Given the description of an element on the screen output the (x, y) to click on. 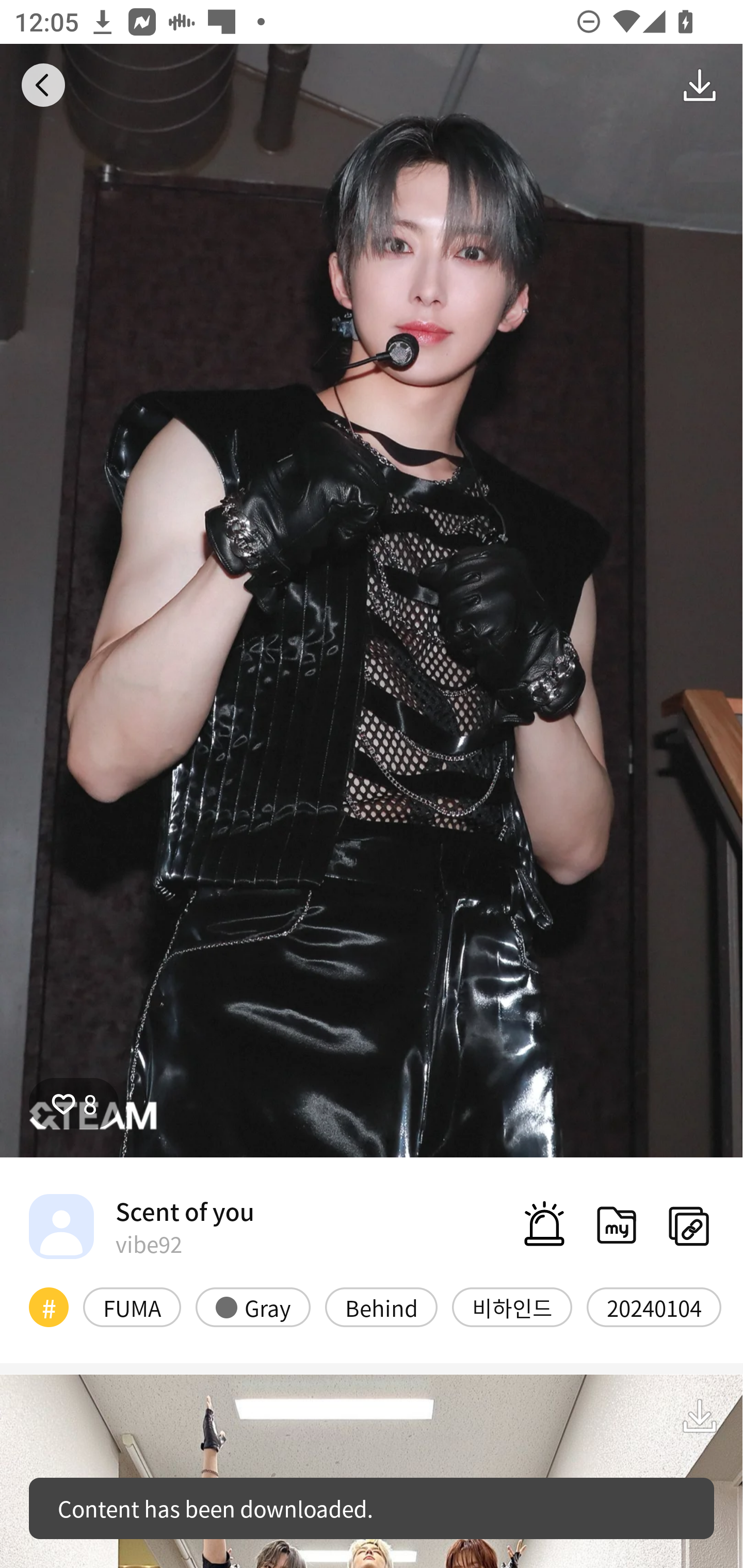
8 (73, 1102)
Scent of you vibe92 (141, 1226)
FUMA (132, 1306)
Gray (252, 1306)
Behind (381, 1306)
비하인드 (511, 1306)
20240104 (653, 1306)
